Given the description of an element on the screen output the (x, y) to click on. 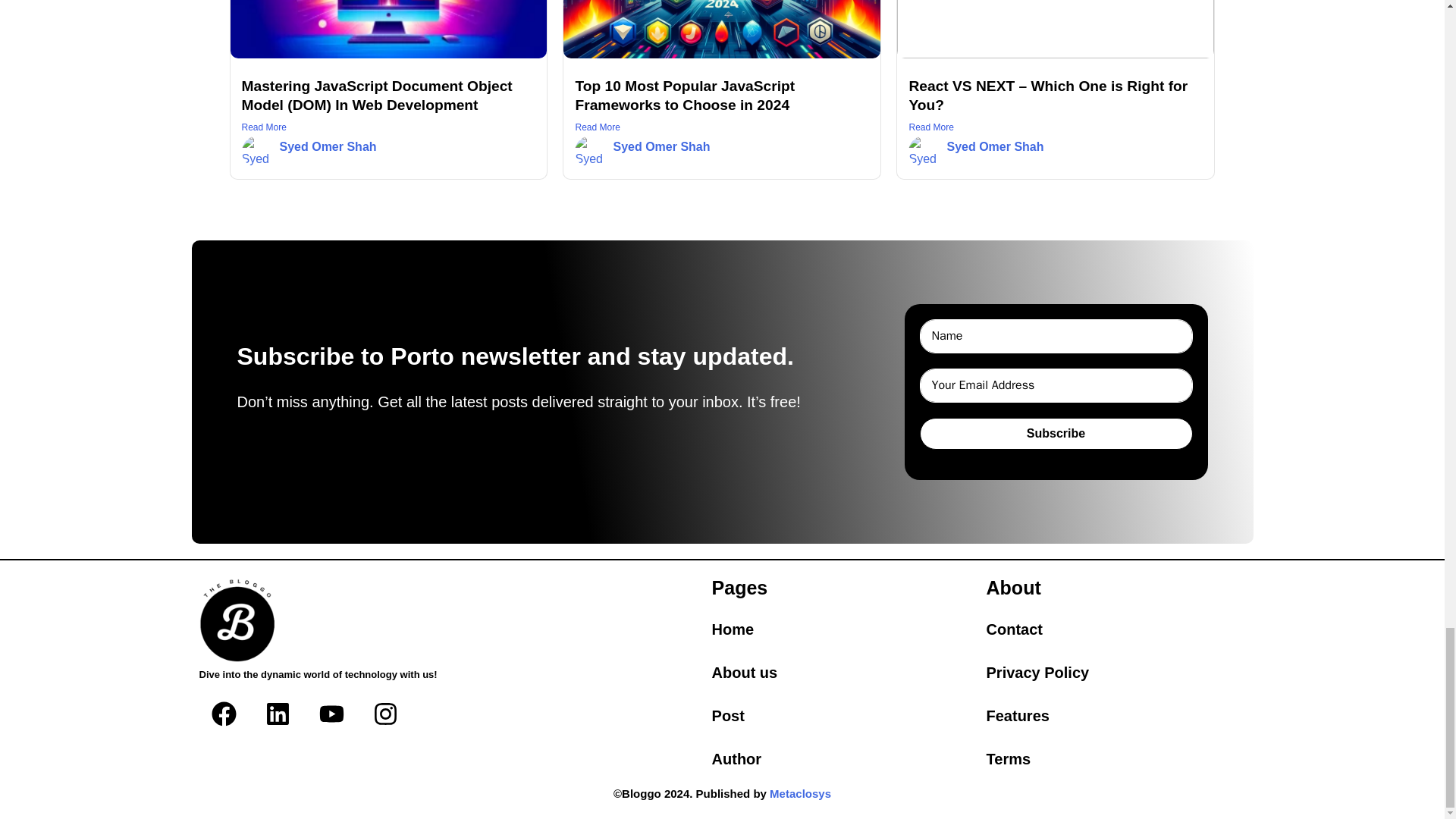
Read More (722, 126)
Syed Omer Shah (327, 146)
Read More (1055, 126)
Syed Omer Shah (661, 146)
Read More (388, 126)
Top 10 Most Popular JavaScript Frameworks to Choose in 2024 (684, 95)
